Given the description of an element on the screen output the (x, y) to click on. 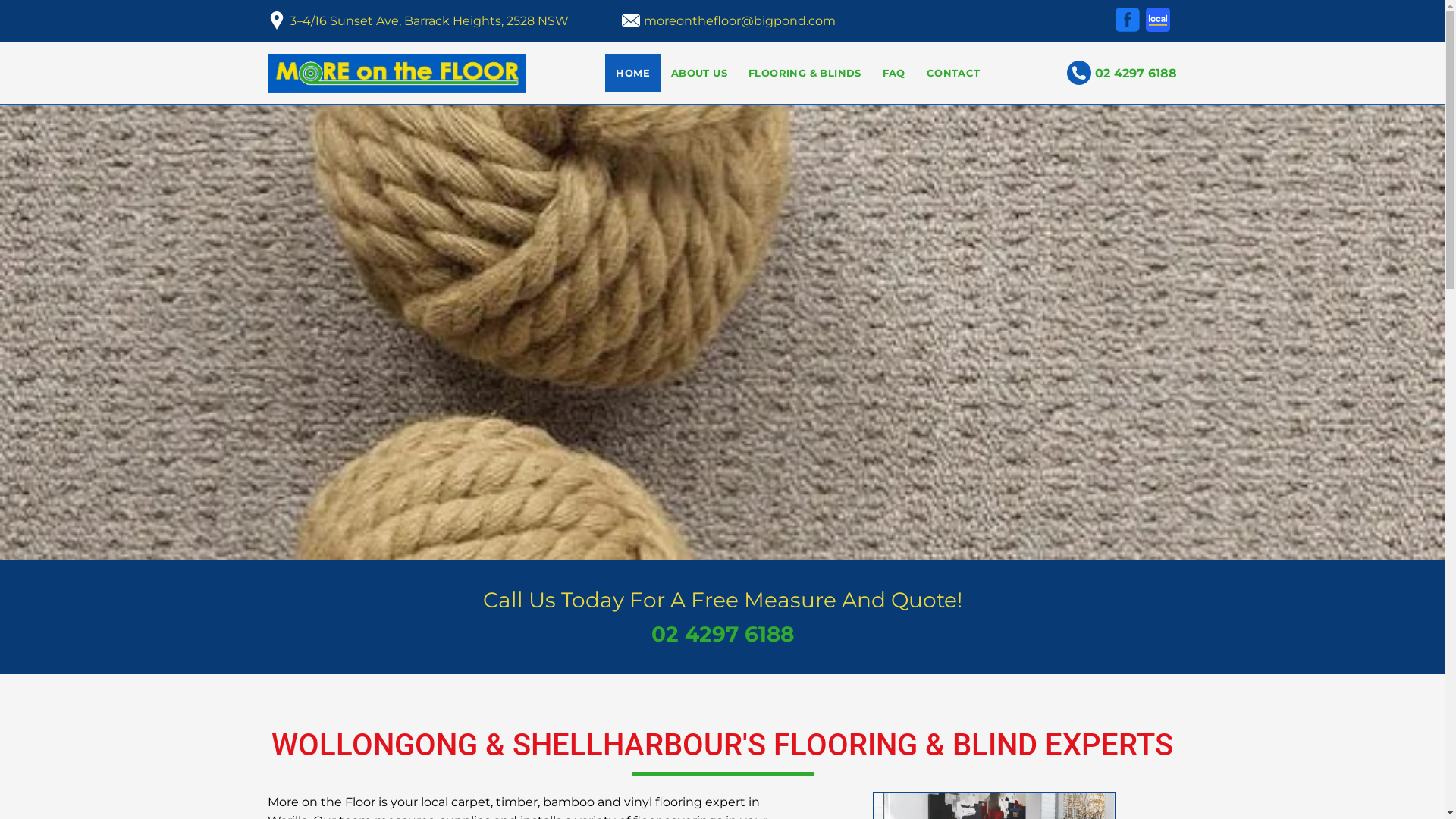
www.localsearch.com.au Element type: hover (1157, 19)
HOME Element type: text (632, 72)
FAQ Element type: text (894, 72)
Find Us On Facebook Element type: hover (1126, 19)
moreonthefloor@bigpond.com Element type: text (739, 20)
More on the Floor Element type: hover (395, 72)
02 4297 6188 Element type: text (1135, 72)
FLOORING & BLINDS Element type: text (804, 72)
02 4297 6188 Element type: text (721, 633)
ABOUT US Element type: text (698, 72)
CONTACT Element type: text (953, 72)
